Given the description of an element on the screen output the (x, y) to click on. 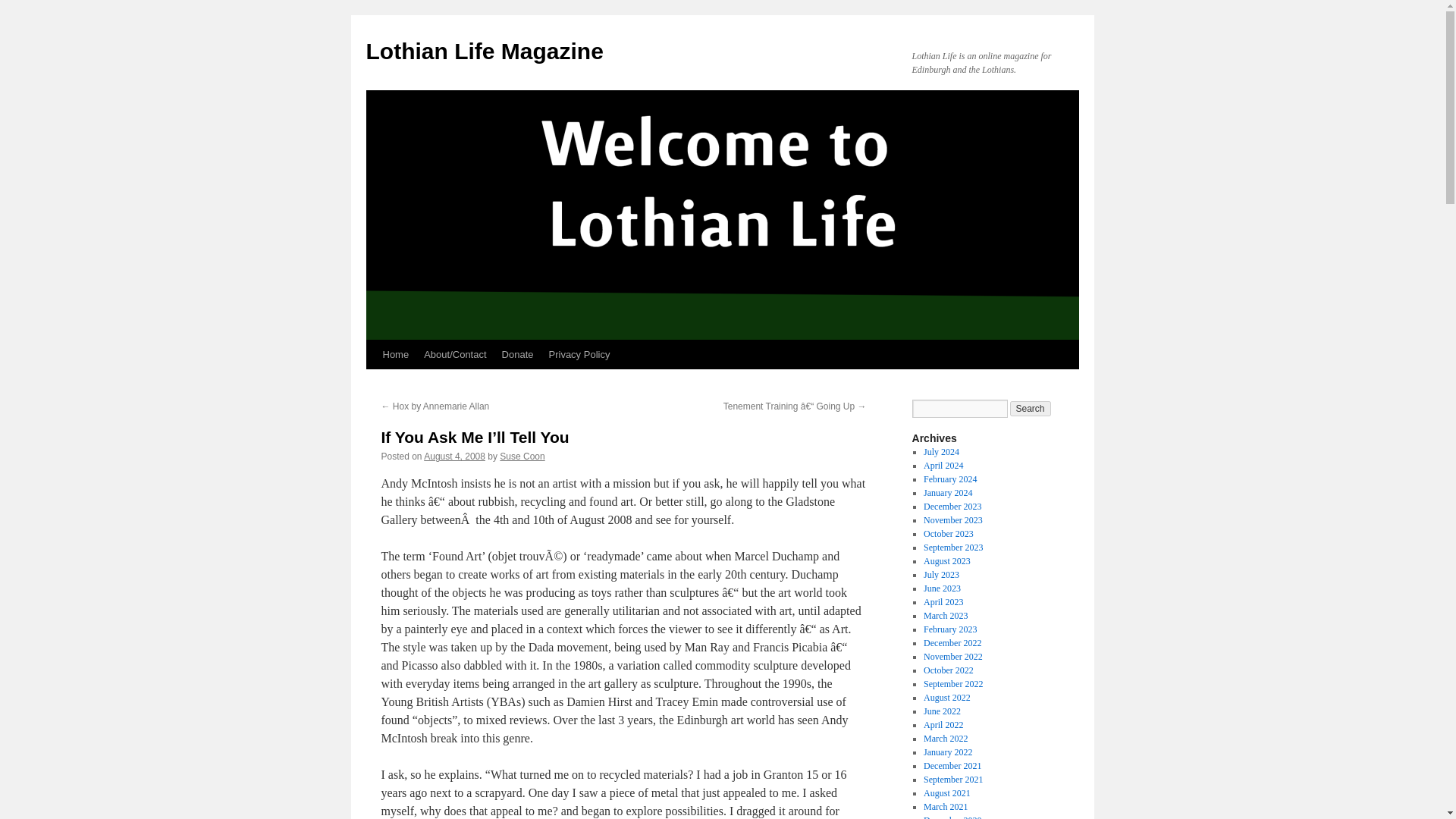
July 2024 (941, 451)
September 2022 (952, 683)
Home (395, 354)
August 4, 2008 (453, 456)
December 2023 (952, 506)
November 2023 (952, 520)
March 2022 (945, 738)
October 2022 (948, 670)
March 2023 (945, 615)
April 2024 (942, 465)
Privacy Policy (579, 354)
8:09 pm (453, 456)
December 2022 (952, 643)
January 2024 (947, 492)
July 2023 (941, 574)
